Given the description of an element on the screen output the (x, y) to click on. 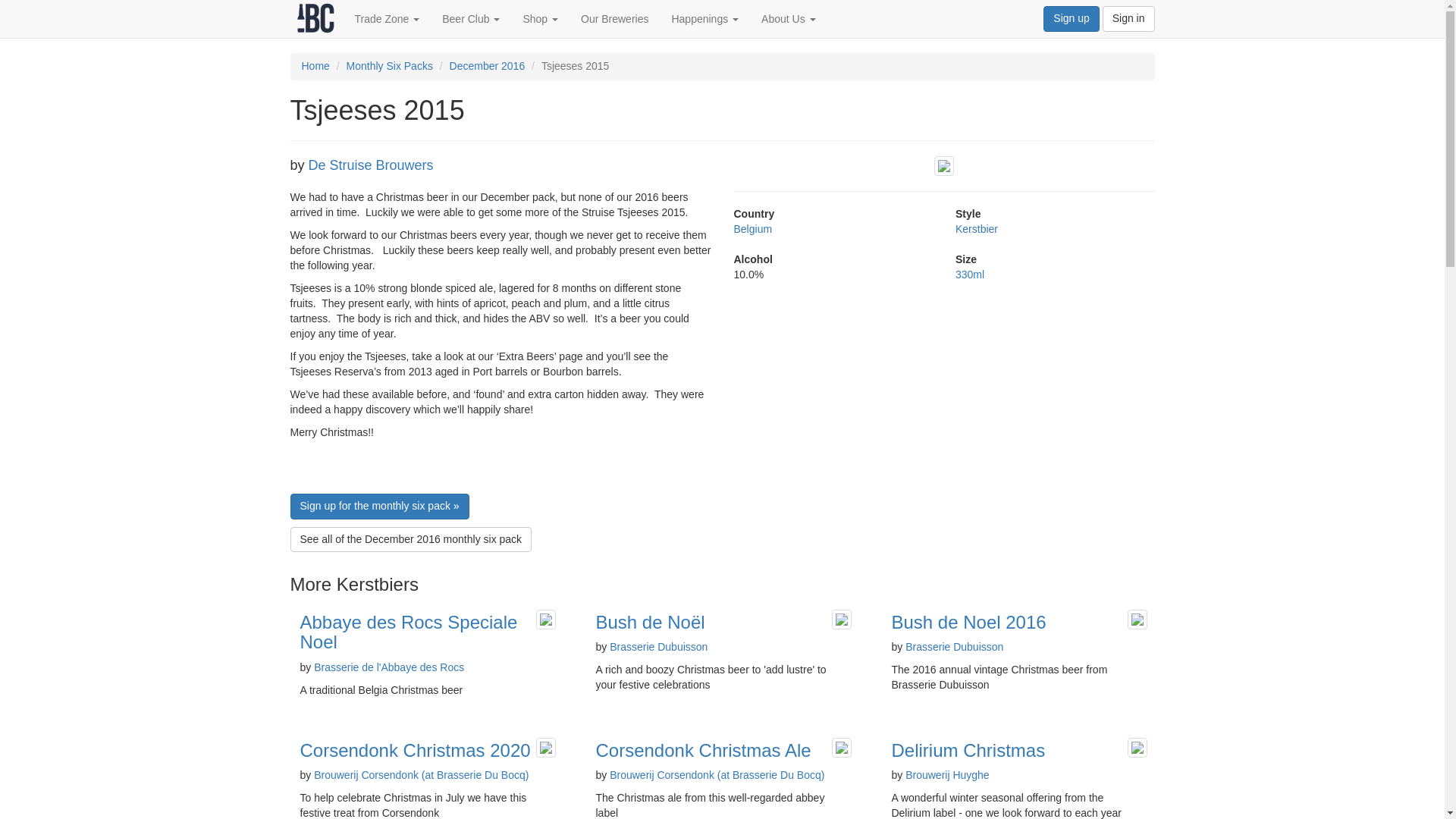
Kerstbier (976, 228)
Home (315, 65)
Beer Club (470, 18)
Brasserie de l'Abbaye des Rocs (389, 666)
Our Breweries (614, 18)
Belgium (753, 228)
Happenings (704, 18)
330ml (969, 274)
December 2016 (487, 65)
About Us (788, 18)
